Given the description of an element on the screen output the (x, y) to click on. 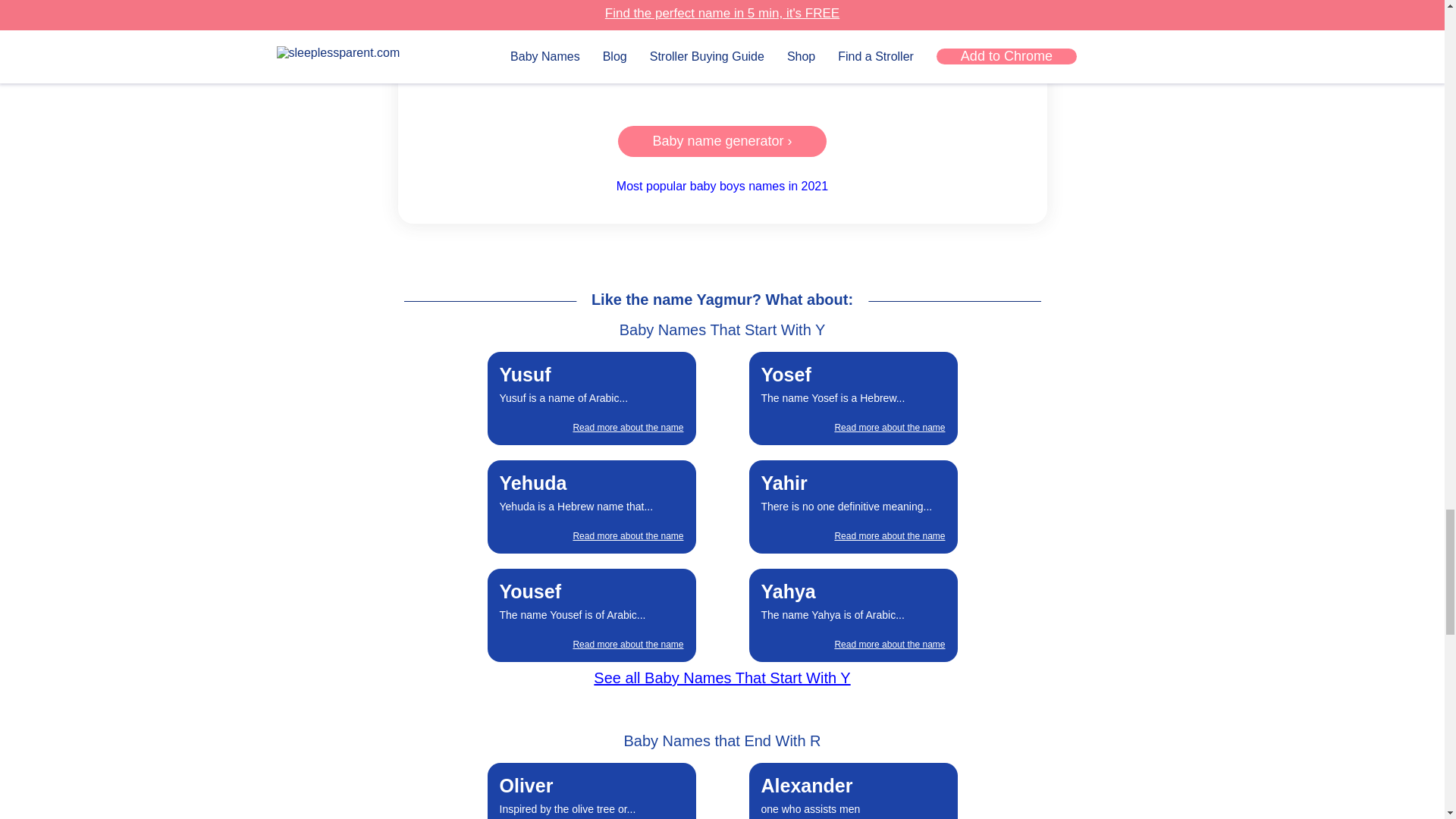
YouTube video player (721, 48)
See all Baby Names That Start With Y (853, 397)
Most popular baby boys names in 2021 (722, 677)
